Given the description of an element on the screen output the (x, y) to click on. 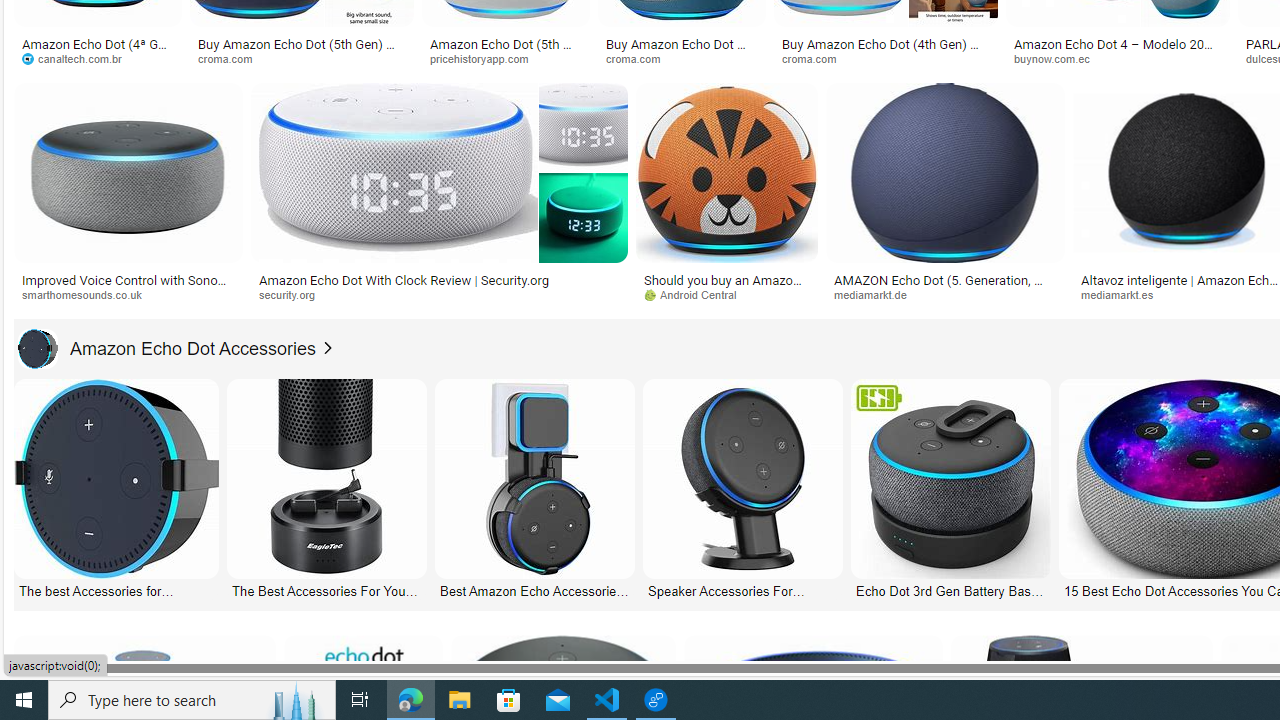
Image result for Amazon Echo Dot PNG (944, 172)
